Given the description of an element on the screen output the (x, y) to click on. 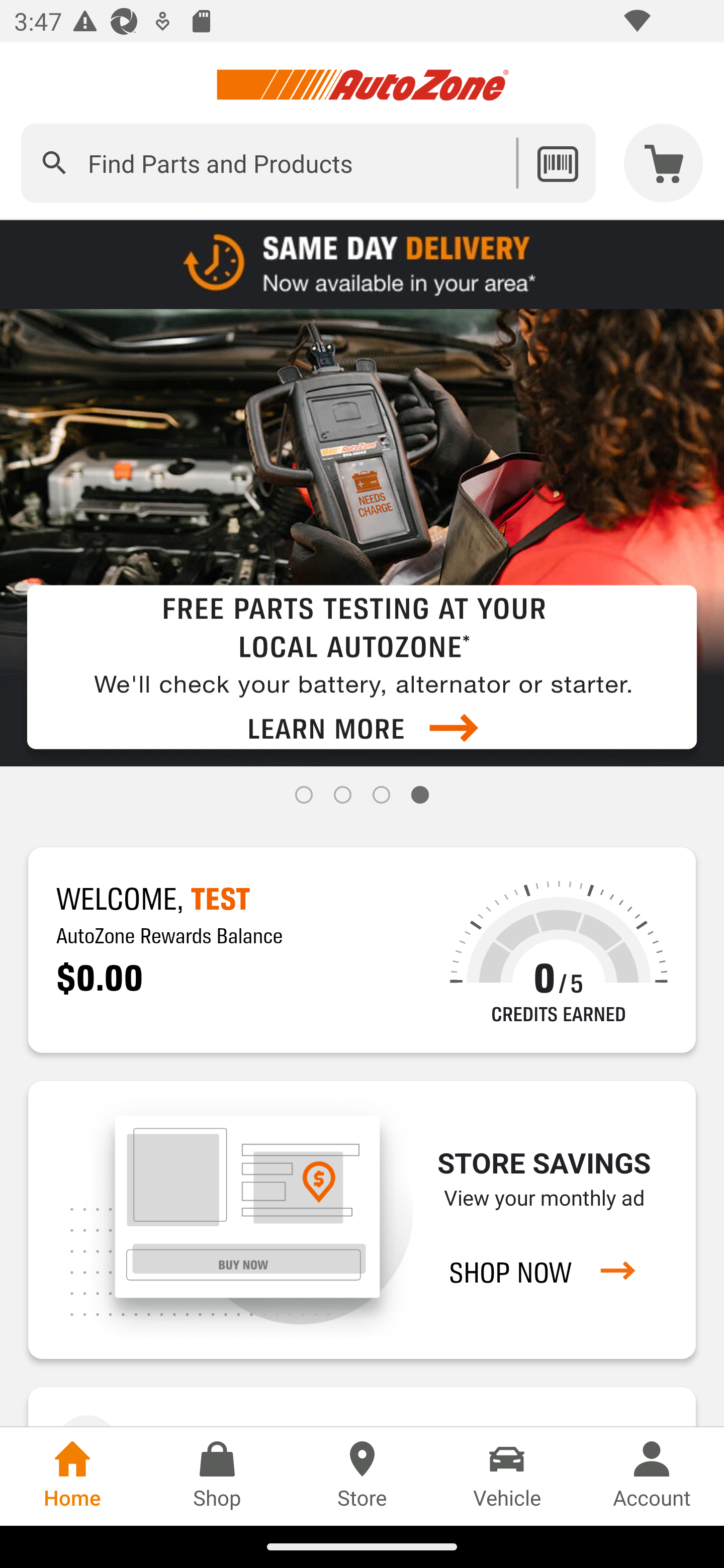
 scan-product-to-search  (557, 162)
 (54, 163)
Cart, no items  (663, 162)
Same Day Delivery - now available in your area* (362, 262)
Home (72, 1475)
Shop (216, 1475)
Store (361, 1475)
Vehicle (506, 1475)
Account (651, 1475)
